Given the description of an element on the screen output the (x, y) to click on. 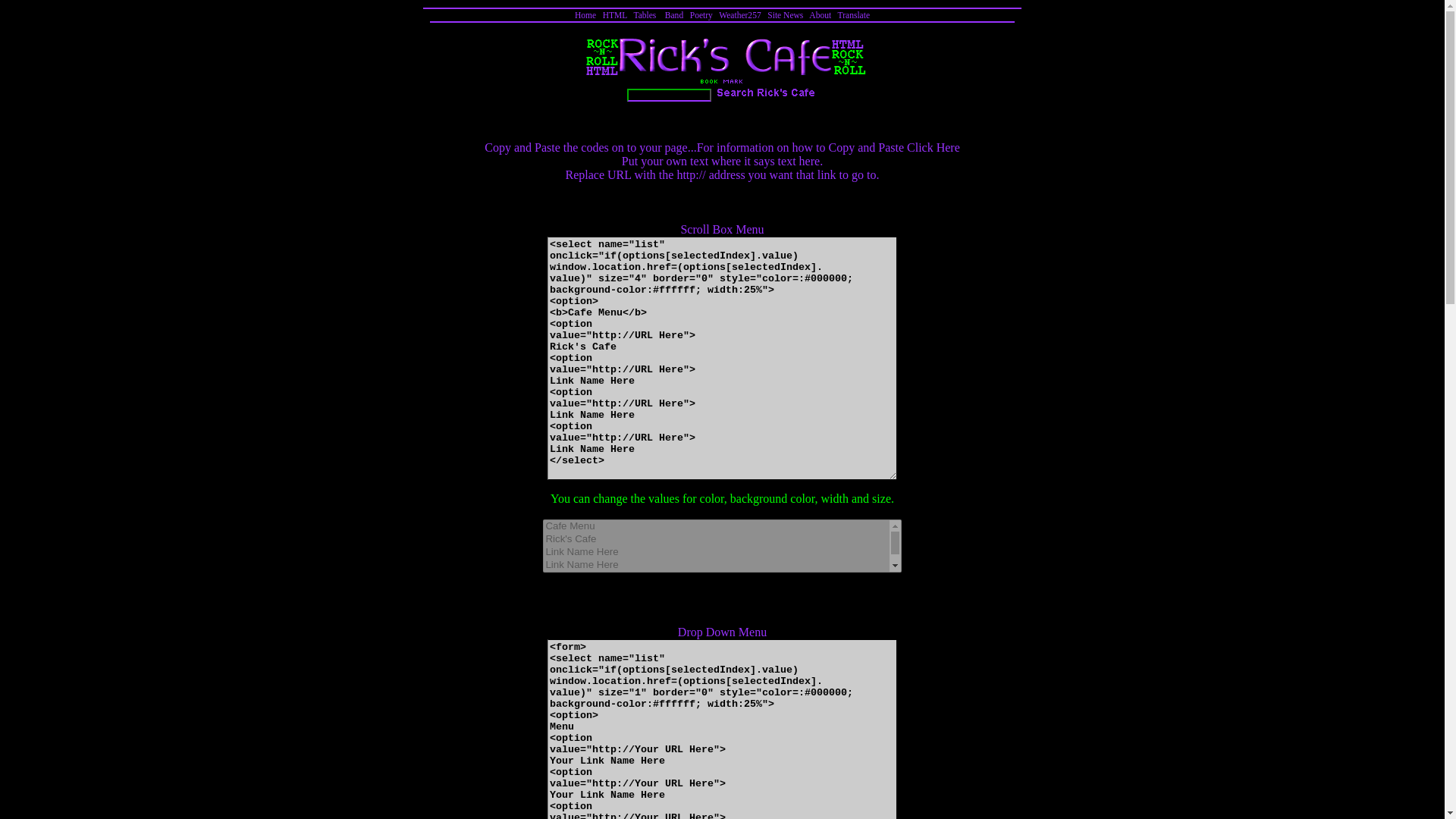
Translate (853, 14)
Weather257 (739, 14)
HTML (614, 14)
img (766, 92)
About (820, 14)
Copy and Paste Click Here (893, 146)
Site News (785, 14)
Home (585, 14)
Poetry (701, 14)
Tables (644, 14)
Band (673, 14)
